Given the description of an element on the screen output the (x, y) to click on. 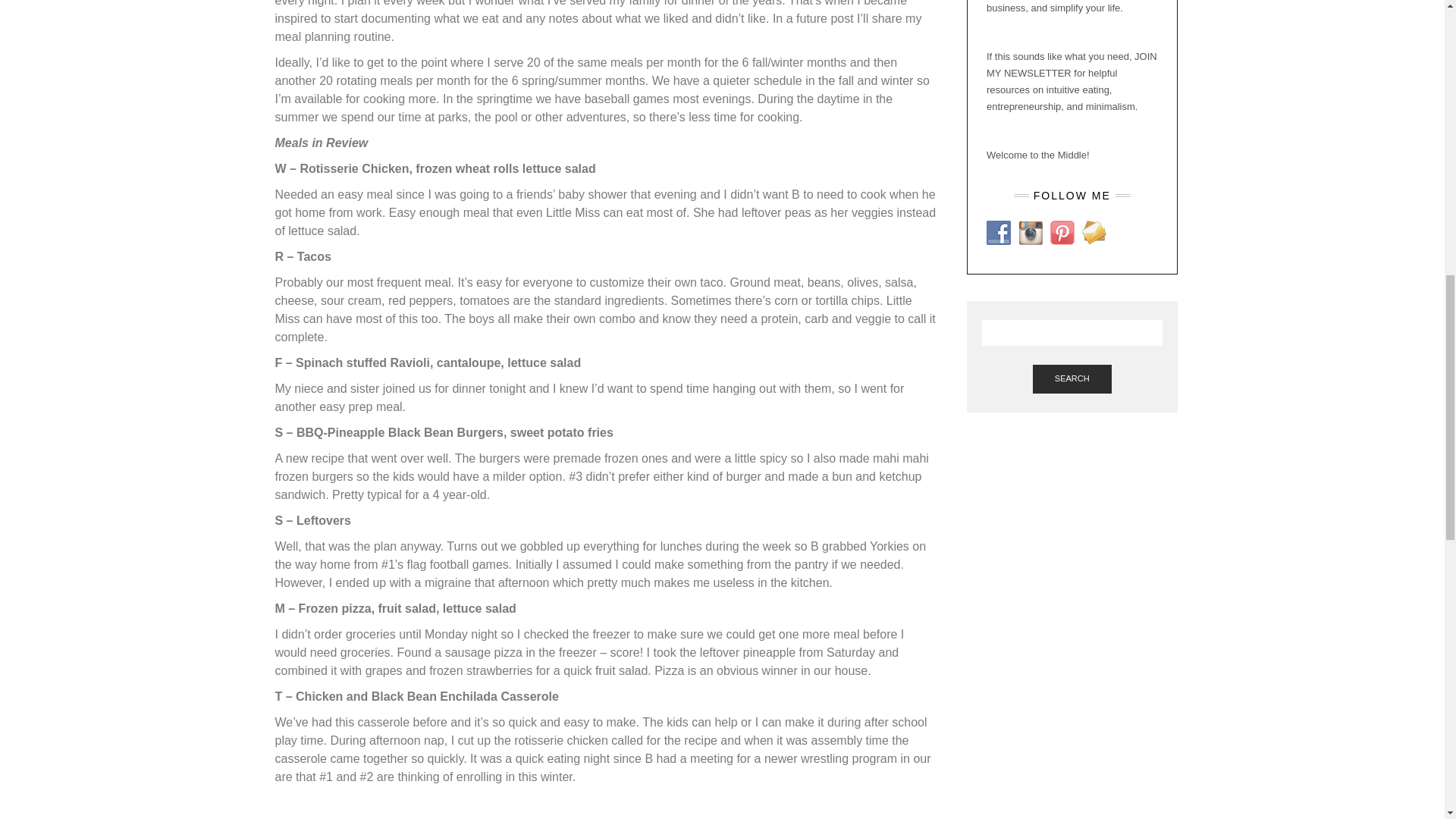
Follow Us on Pinterest (1061, 232)
Follow Us on E-mail (1093, 232)
SEARCH (1072, 378)
Follow Us on Instagram (1029, 232)
Follow Us on Facebook (998, 232)
